Given the description of an element on the screen output the (x, y) to click on. 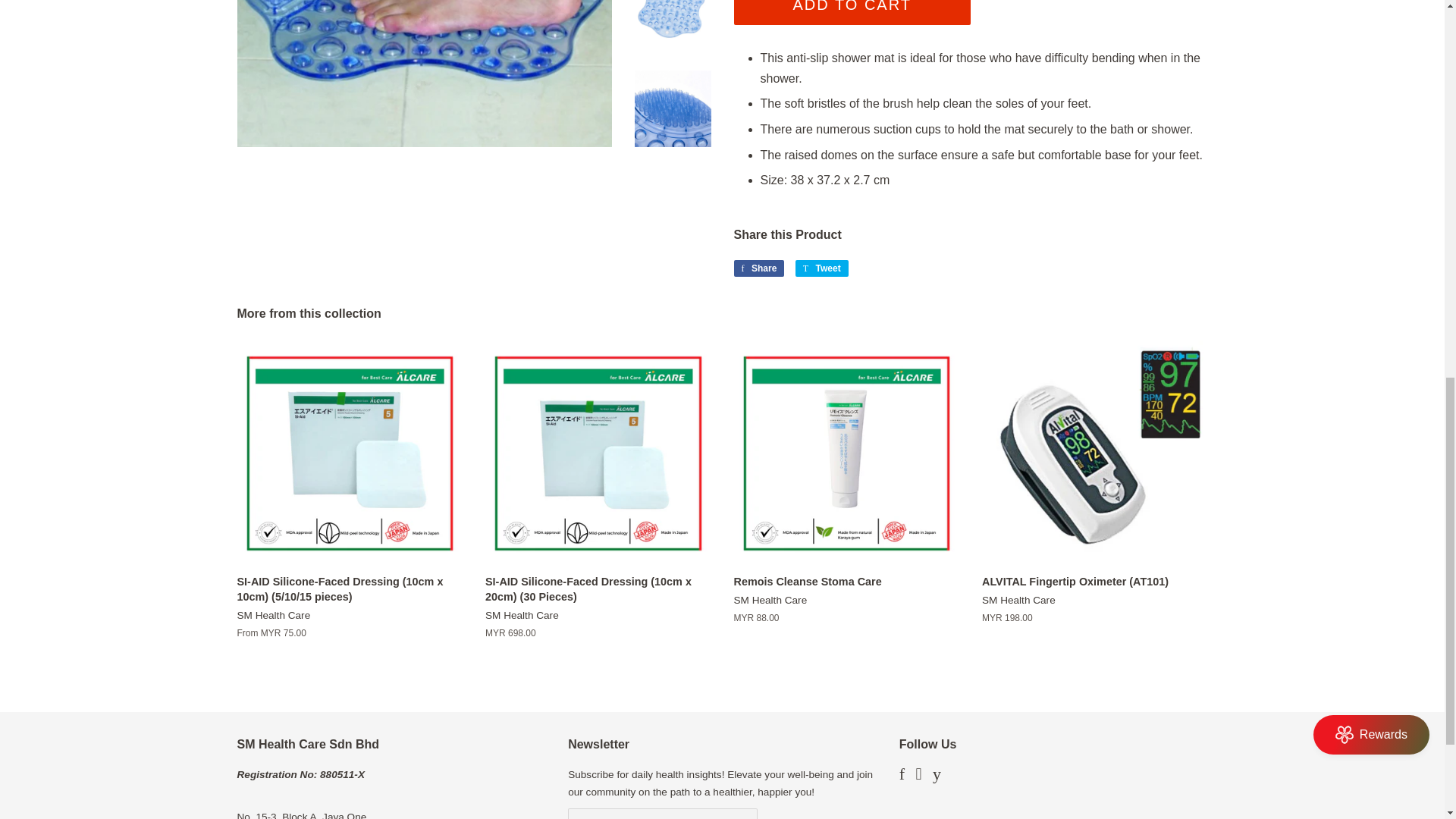
Share on Facebook (758, 268)
SM Health Care on YouTube (936, 776)
SM Health Care on Instagram (918, 776)
Tweet on Twitter (821, 268)
SM Health Care on Facebook (901, 776)
